Given the description of an element on the screen output the (x, y) to click on. 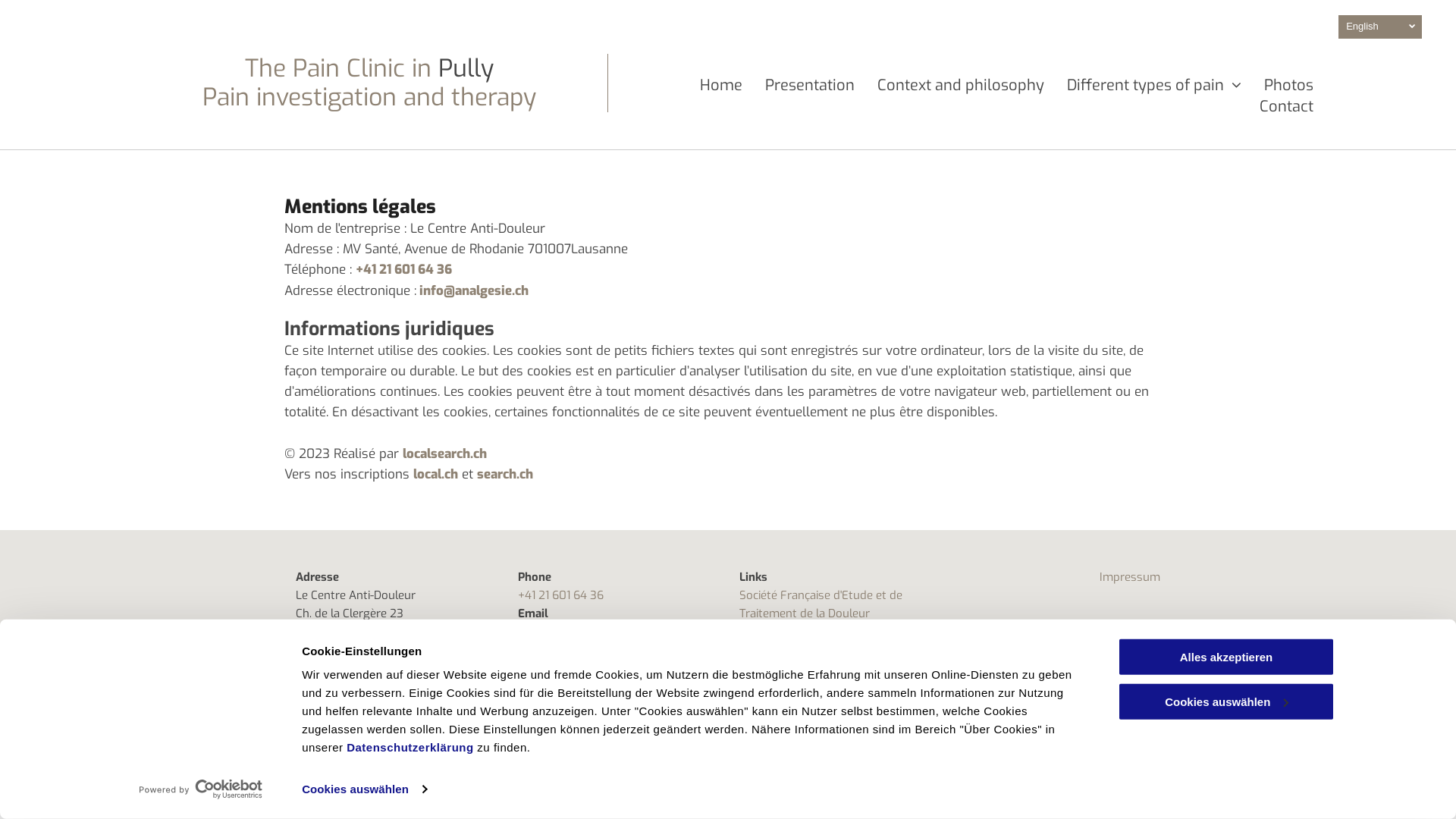
local.ch Element type: text (435, 474)
Medtronic Element type: text (765, 667)
info@analgesie.ch Element type: text (564, 631)
Contact Element type: text (1286, 108)
Different types of pain Element type: text (1153, 86)
Context and philosophy Element type: text (960, 86)
English Element type: text (1379, 26)
Alles akzeptieren Element type: text (1225, 656)
+41 21 601 64 36 Element type: text (559, 594)
Home Element type: text (720, 86)
info@analgesie.ch Element type: text (473, 290)
Pain investigation and therapy Element type: text (369, 96)
+41 21 601 64 36 Element type: text (403, 269)
localsearch.ch Element type: text (444, 453)
The Pain Clinic in Element type: text (337, 68)
Presentation Element type: text (809, 86)
Impressum Element type: text (1129, 576)
Privacy statement Element type: text (337, 753)
Photos Element type: text (1288, 86)
search.ch Element type: text (504, 474)
Swiss Society for Interventional Pain Management Element type: text (835, 640)
